Given the description of an element on the screen output the (x, y) to click on. 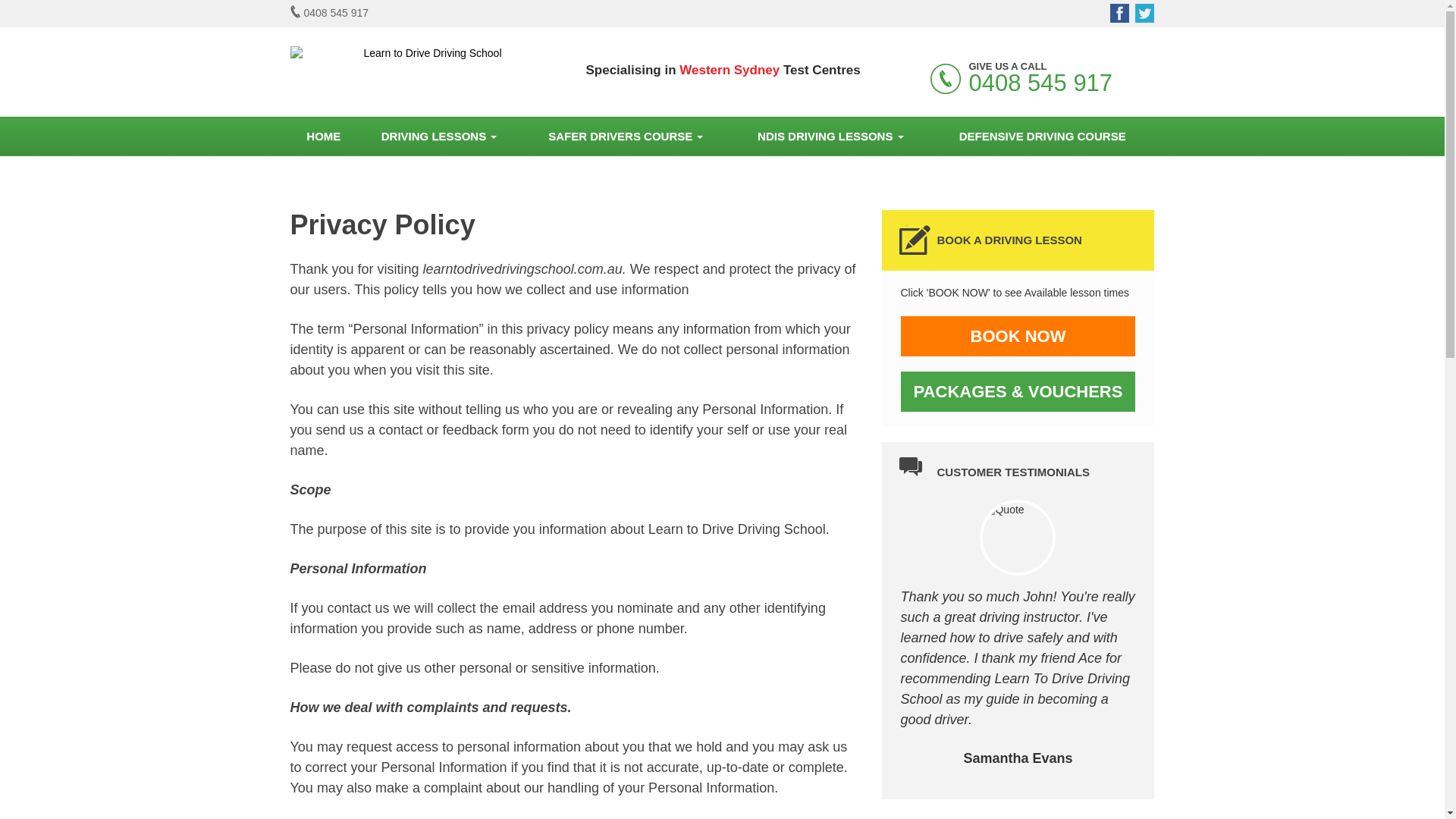
SAFER DRIVERS COURSE (625, 136)
Safer Drivers Course (625, 136)
HOME (322, 136)
0408 545 917 (1040, 82)
Driving Lessons (438, 136)
NDIS Driving Lessons (830, 136)
DEFENSIVE DRIVING COURSE (1042, 136)
NDIS DRIVING LESSONS (830, 136)
Defensive Driving Course (1042, 136)
0408 545 917 (328, 13)
Home (322, 136)
DRIVING LESSONS (438, 136)
